Given the description of an element on the screen output the (x, y) to click on. 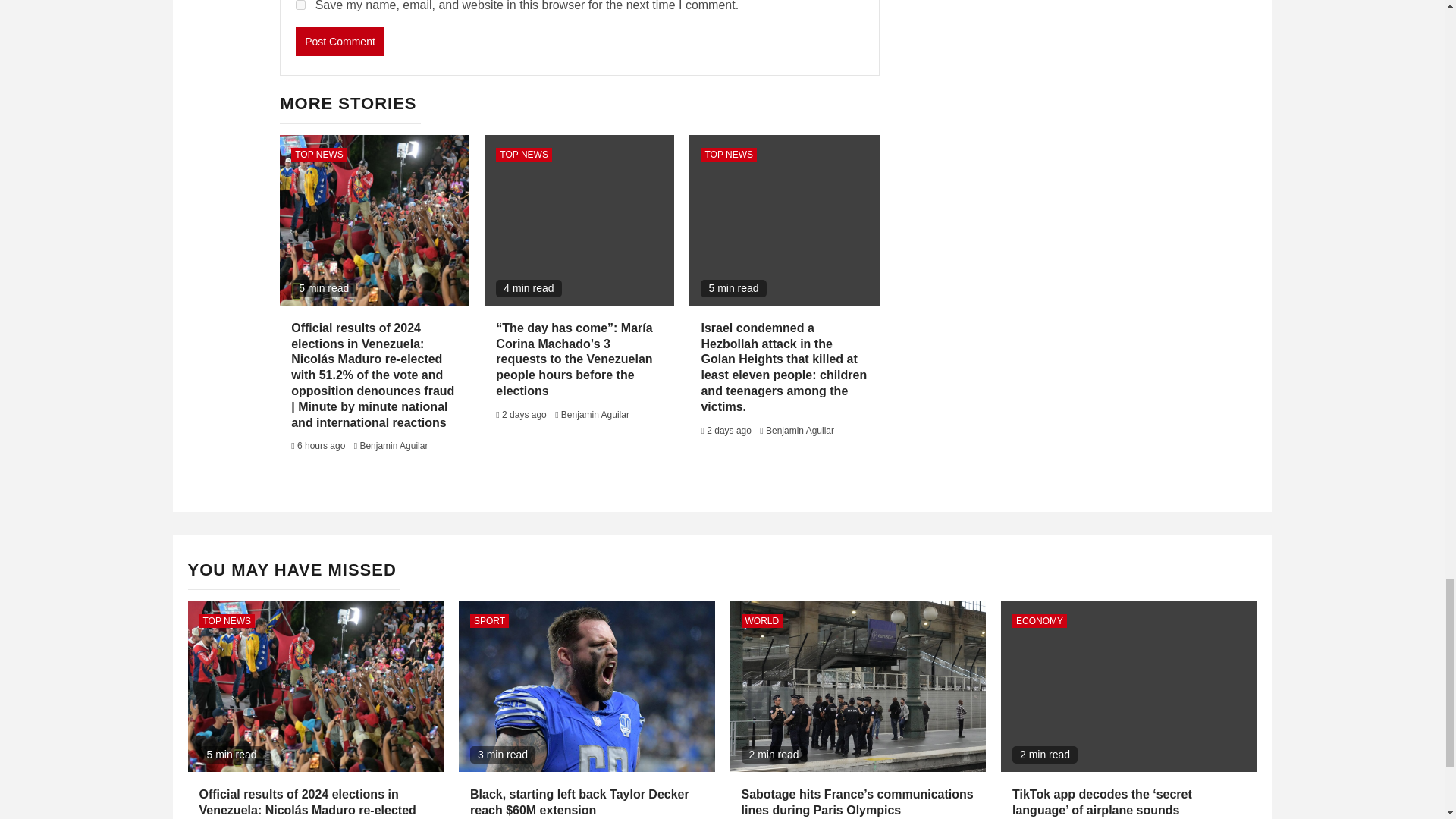
TOP NEWS (319, 154)
Benjamin Aguilar (393, 445)
Benjamin Aguilar (594, 414)
Benjamin Aguilar (799, 430)
Post Comment (339, 41)
yes (300, 4)
Post Comment (339, 41)
TOP NEWS (523, 154)
TOP NEWS (728, 154)
